Given the description of an element on the screen output the (x, y) to click on. 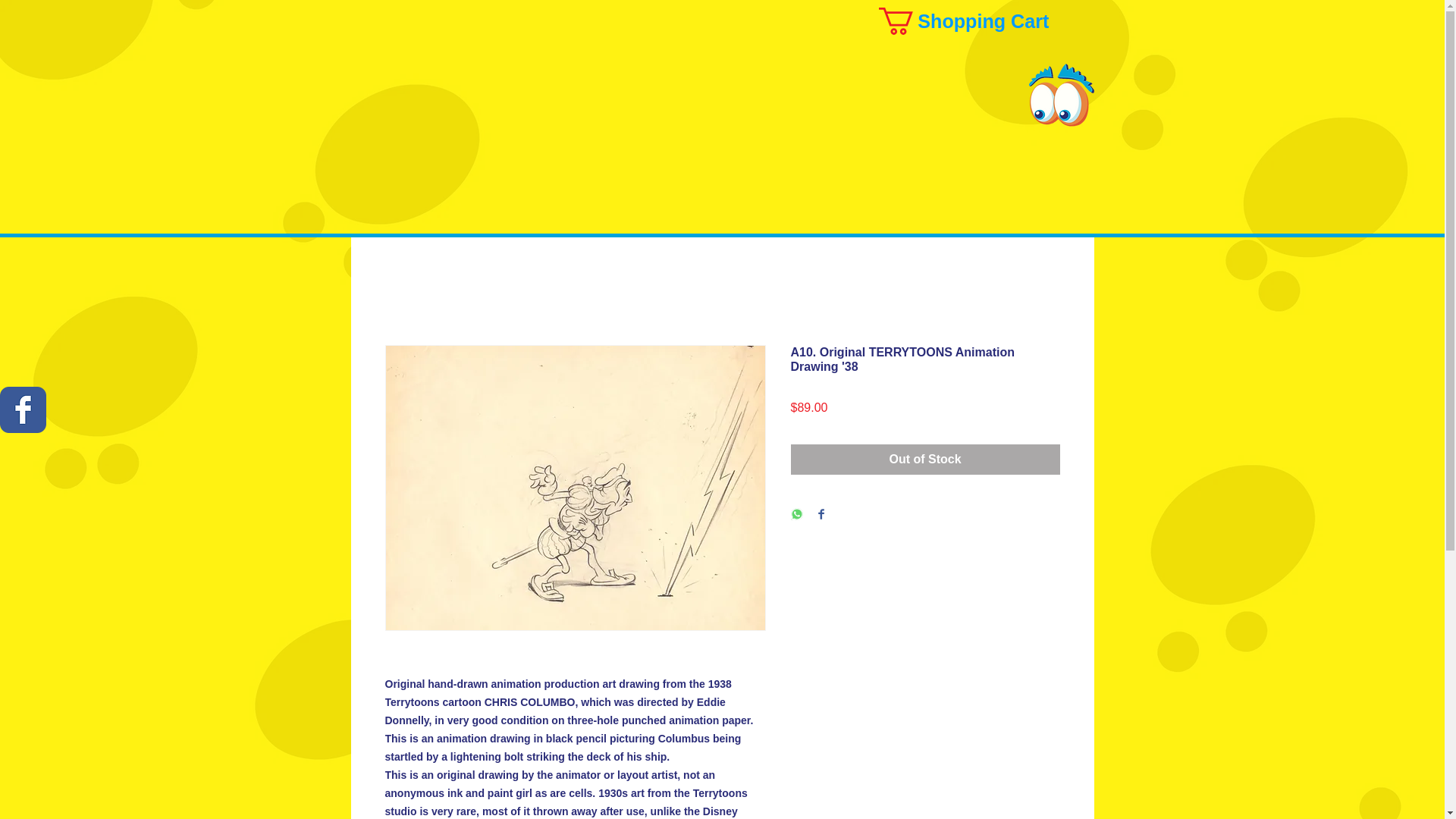
Shopping Cart (979, 21)
Shopping Cart (979, 21)
Out of Stock (924, 459)
